Given the description of an element on the screen output the (x, y) to click on. 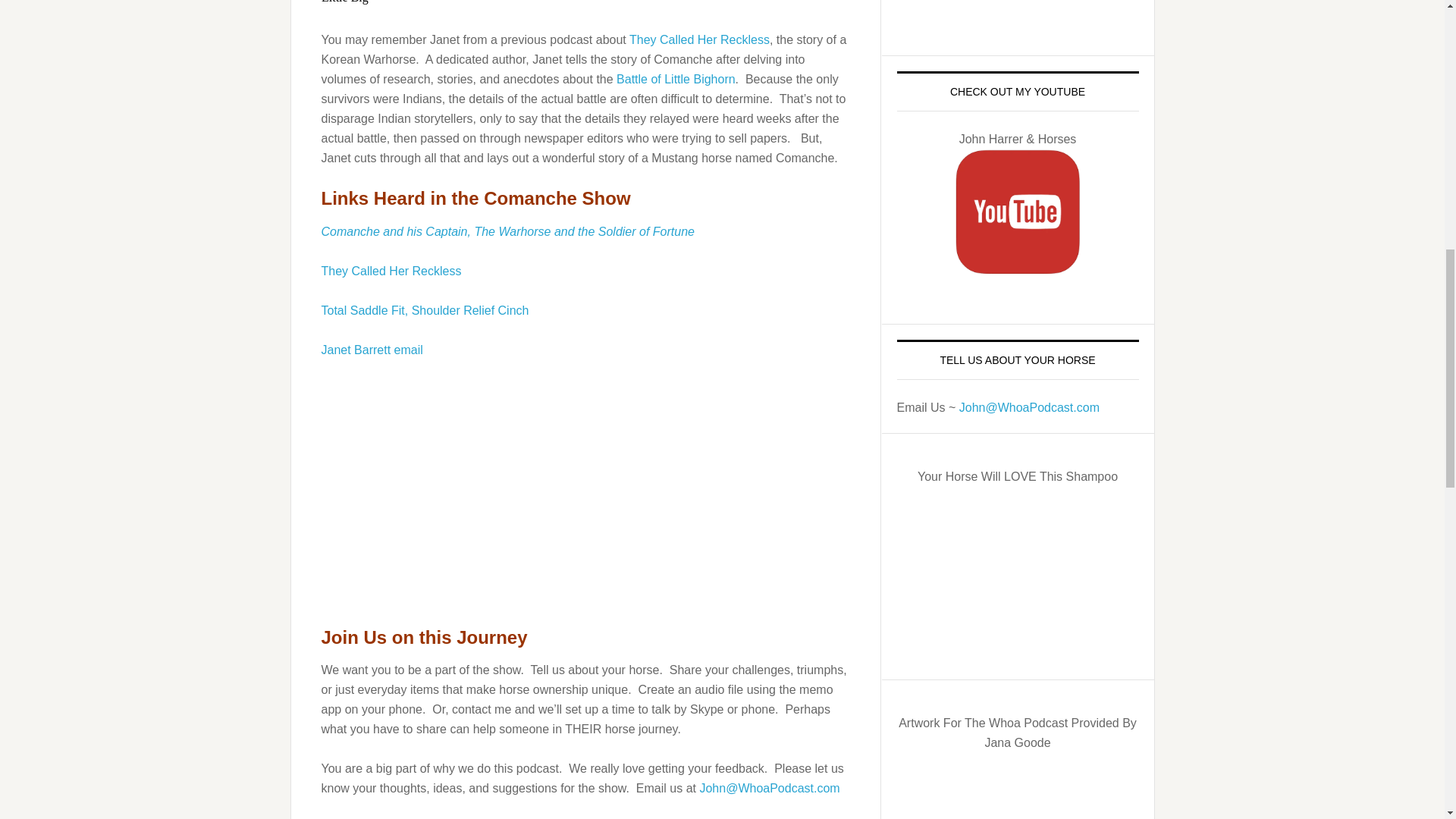
Battle of Little Bighorn (675, 78)
They Called Her Reckless (391, 270)
They Called Her Reckless (699, 39)
Total Saddle Fit, Shoulder Relief Cinch (425, 309)
Janet Barrett email (372, 349)
